Given the description of an element on the screen output the (x, y) to click on. 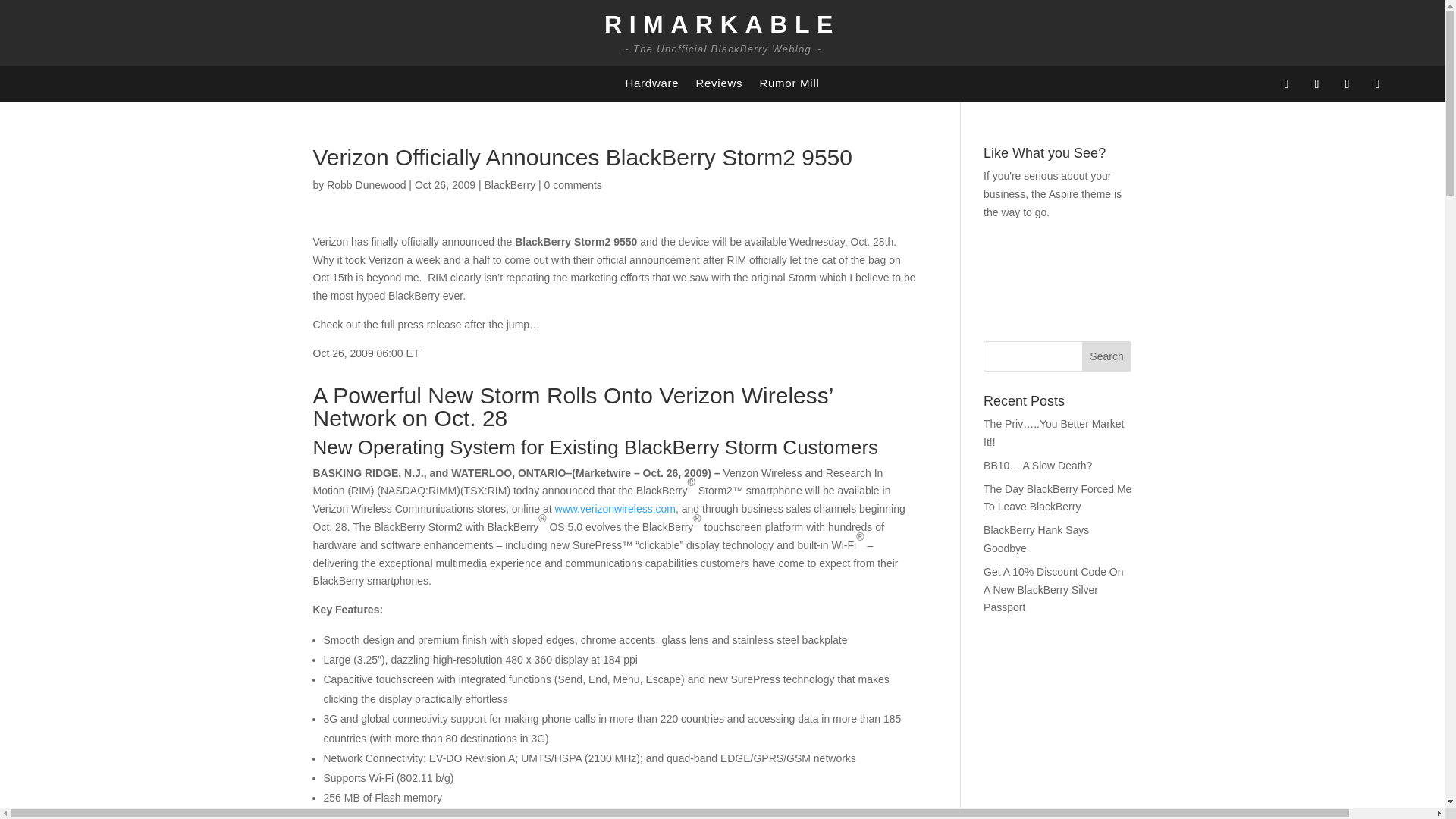
BlackBerry (509, 184)
0 comments (573, 184)
Follow on Instagram (1346, 84)
Robb Dunewood (366, 184)
Search (1106, 356)
www.verizonwireless.com (614, 508)
The Day BlackBerry Forced Me To Leave BlackBerry (1057, 498)
Hardware (651, 86)
Follow on Facebook (1286, 84)
Search (1106, 356)
